Given the description of an element on the screen output the (x, y) to click on. 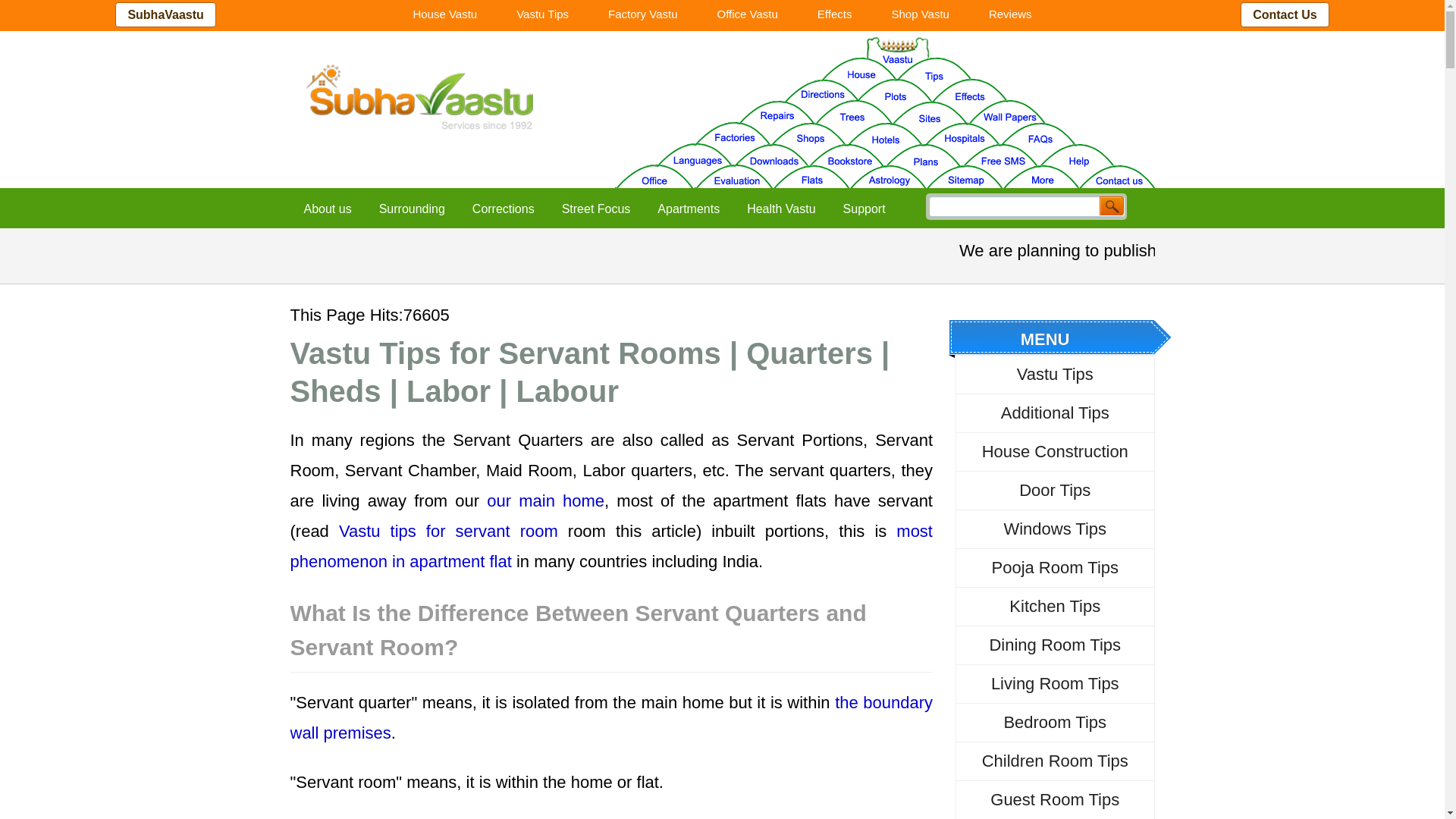
Contact Us (1283, 14)
SubhaVaastu (165, 14)
Office Vastu (747, 13)
Vastu Tips (542, 13)
Reviews (1010, 13)
Factory Vastu (642, 13)
About us (327, 208)
Shop Vastu (919, 13)
Effects (834, 13)
House Vastu (444, 13)
